Given the description of an element on the screen output the (x, y) to click on. 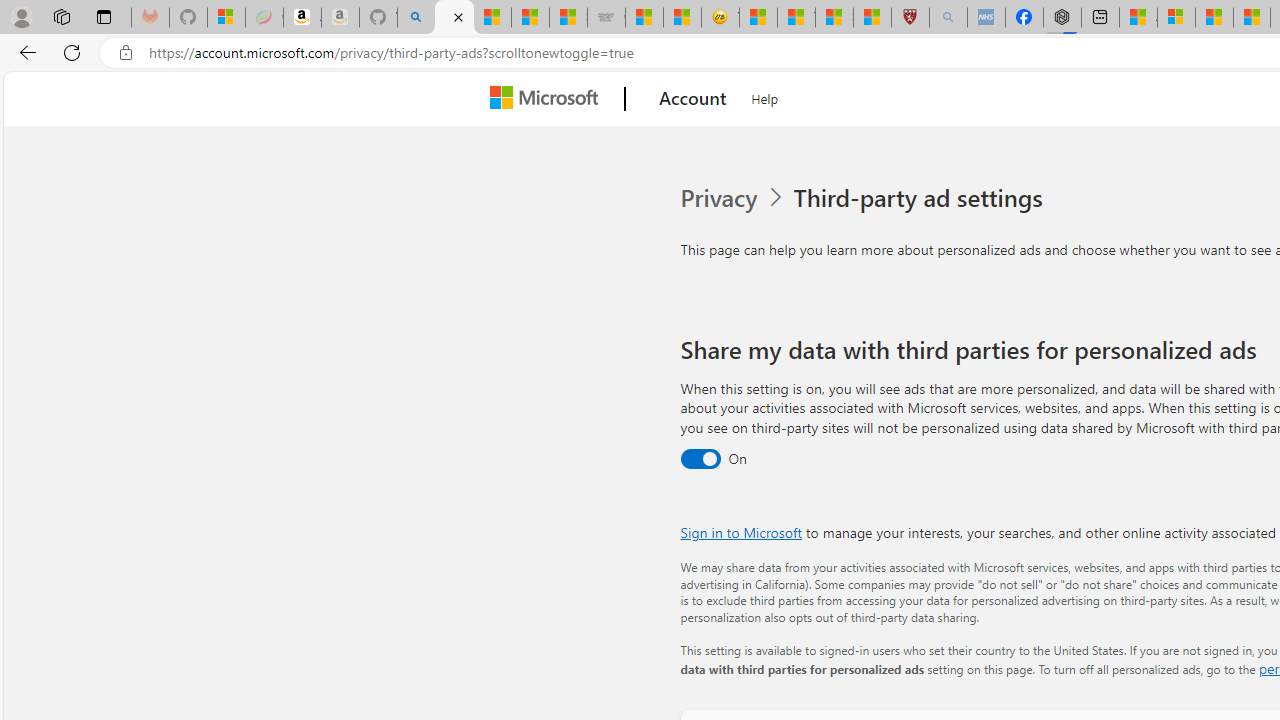
Robert H. Shmerling, MD - Harvard Health (910, 17)
Third party data sharing toggle (699, 459)
Microsoft (548, 99)
Sign in to Microsoft (740, 532)
Nordace - Nordace Siena Is Not An Ordinary Backpack (1062, 17)
Third-party ad settings (922, 197)
